Given the description of an element on the screen output the (x, y) to click on. 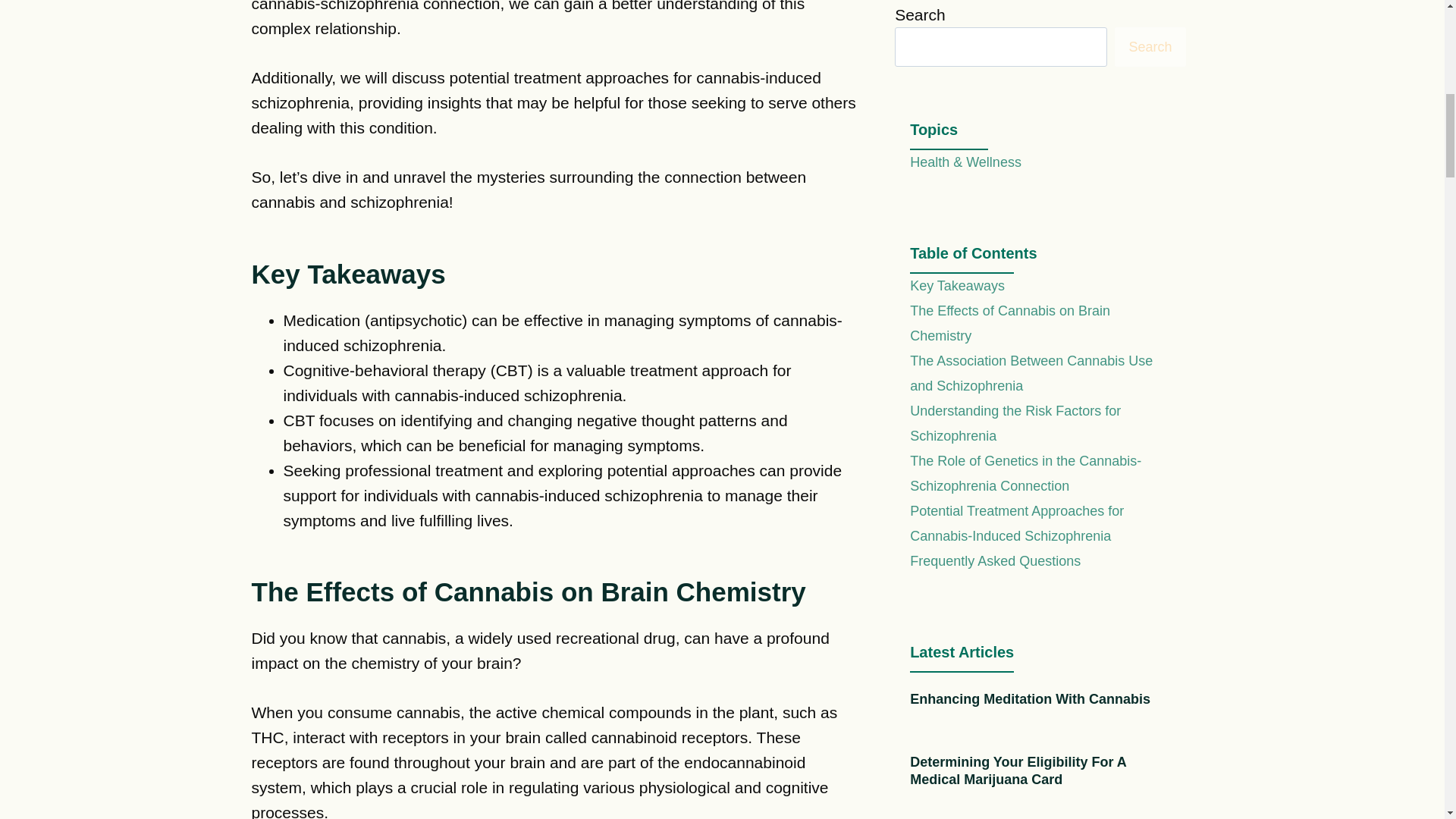
The Effects of Cannabis on Brain Chemistry (1009, 323)
Understanding the Risk Factors for Schizophrenia (1015, 423)
Enhancing Meditation With Cannabis (1030, 698)
Key Takeaways (957, 285)
Search (1150, 46)
Determining Your Eligibility For A Medical Marijuana Card (1017, 770)
Frequently Asked Questions (995, 560)
The Association Between Cannabis Use and Schizophrenia (1031, 372)
